Given the description of an element on the screen output the (x, y) to click on. 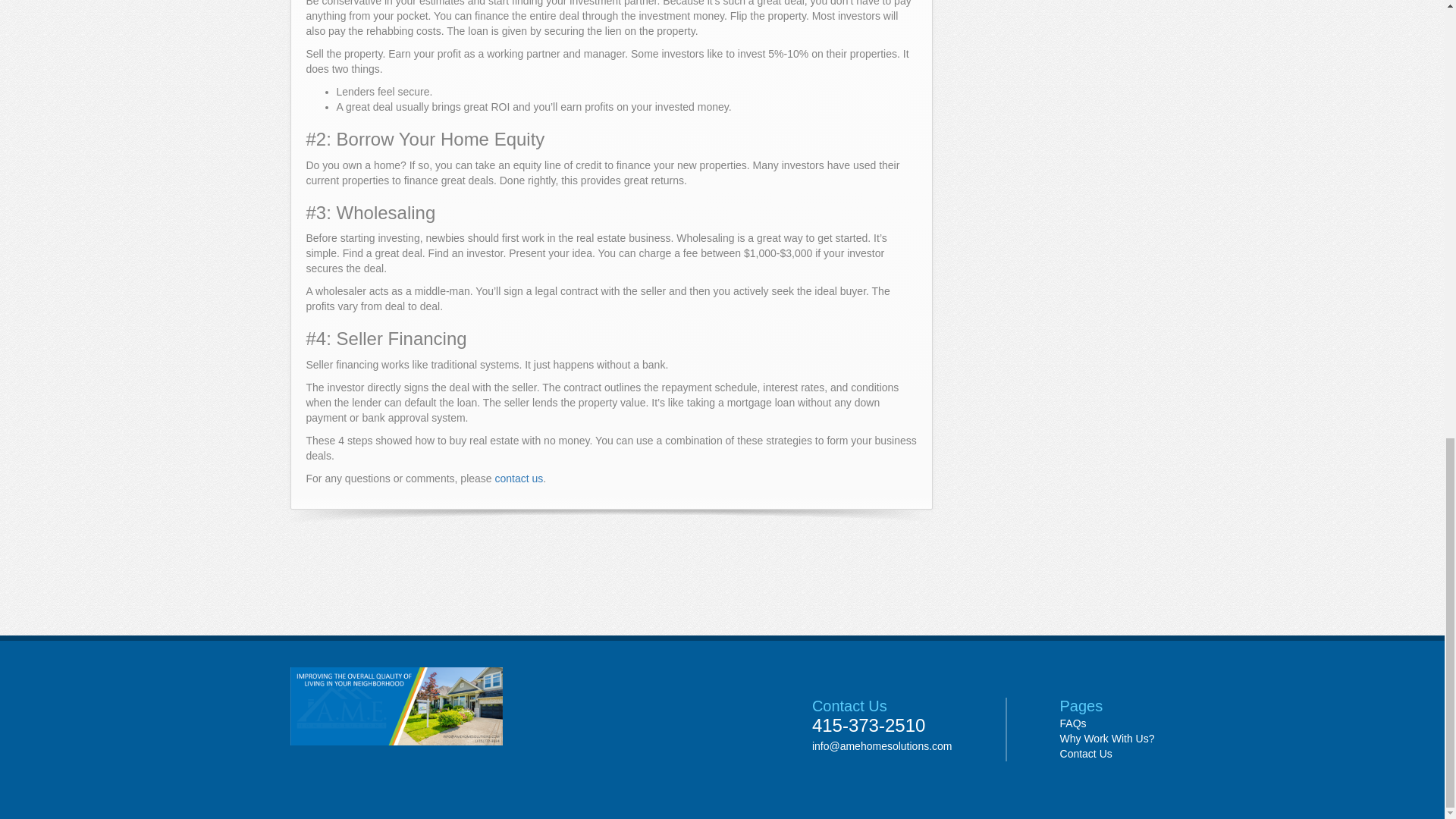
Why Work With Us? (1106, 738)
415-373-2510 (882, 725)
Contact Us (1085, 753)
FAQs (1072, 723)
contact us (519, 478)
